Given the description of an element on the screen output the (x, y) to click on. 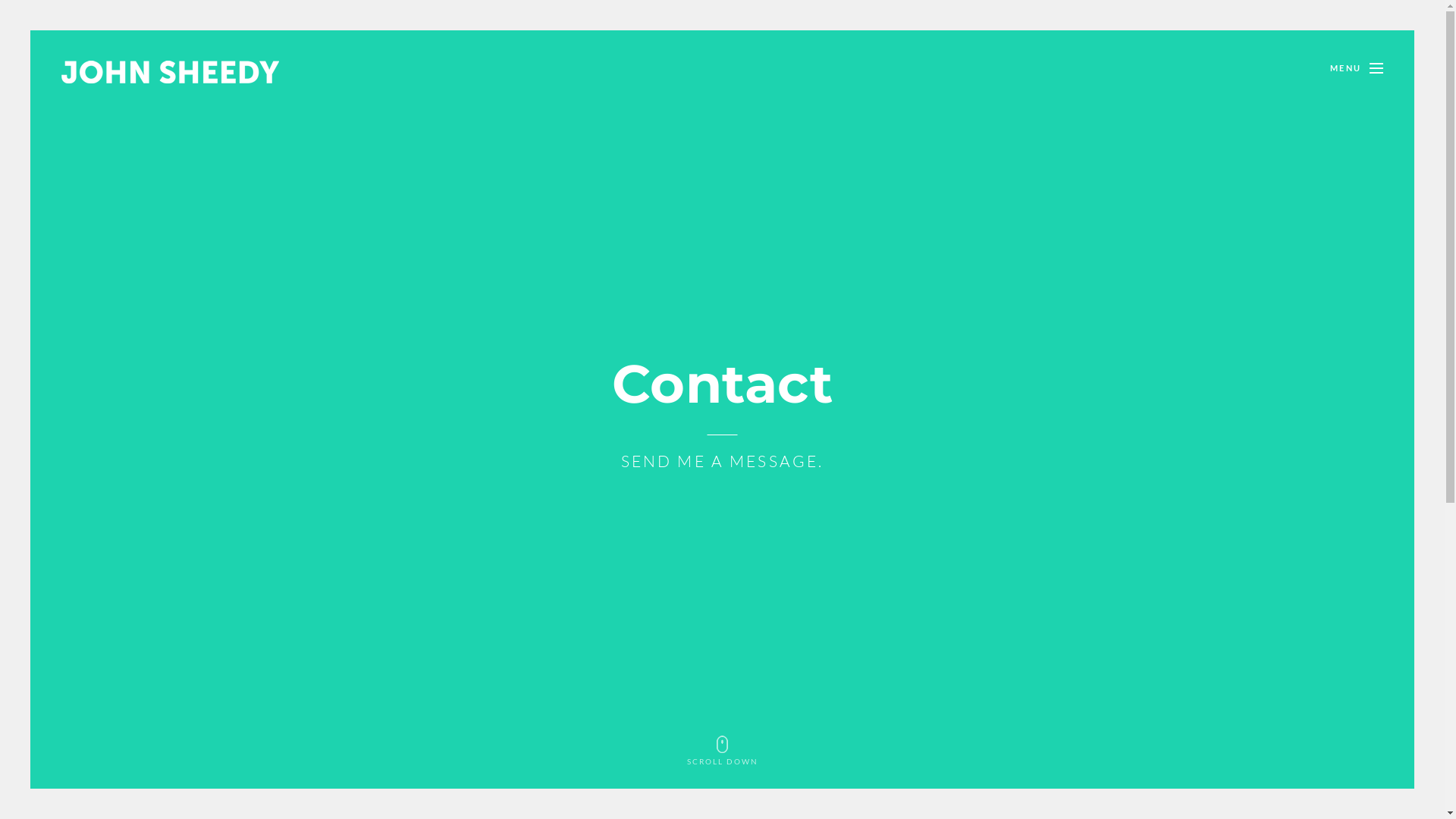
SCROLL DOWN Element type: text (721, 750)
MENU Element type: text (1375, 67)
